Given the description of an element on the screen output the (x, y) to click on. 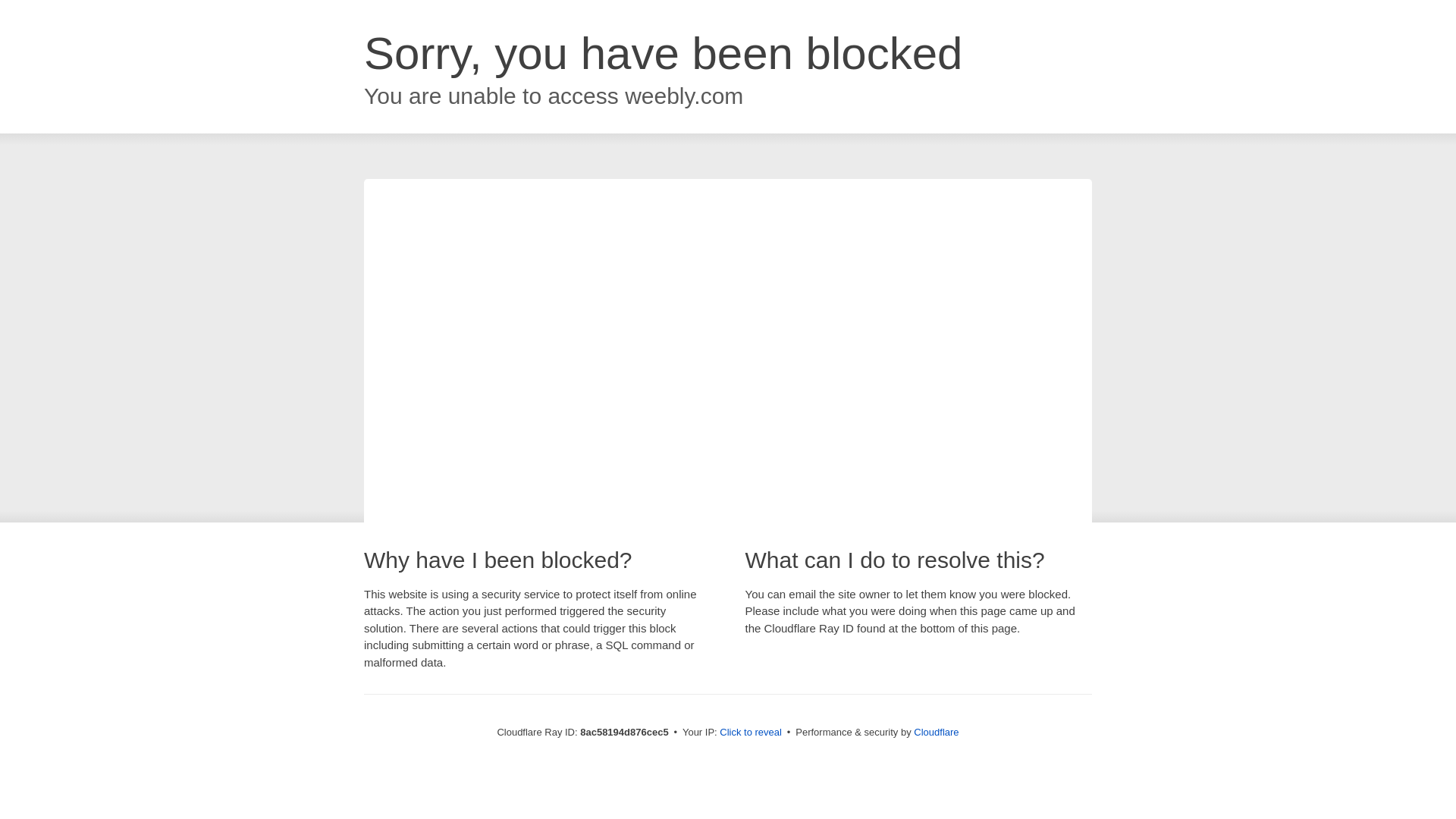
Click to reveal (750, 732)
Cloudflare (936, 731)
